Given the description of an element on the screen output the (x, y) to click on. 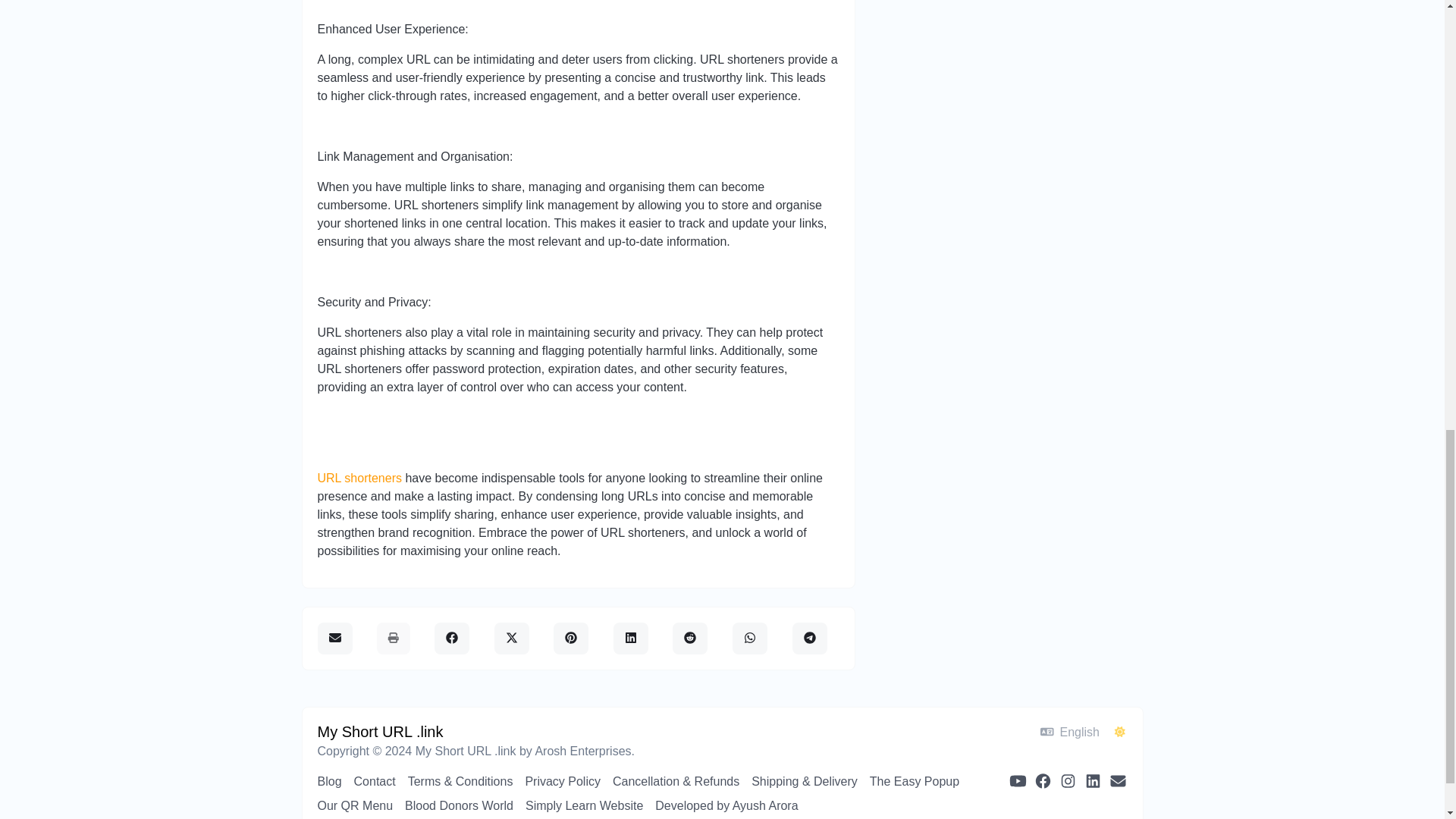
URL shorteners (359, 477)
My Short URL .link (379, 731)
English (1069, 732)
